Given the description of an element on the screen output the (x, y) to click on. 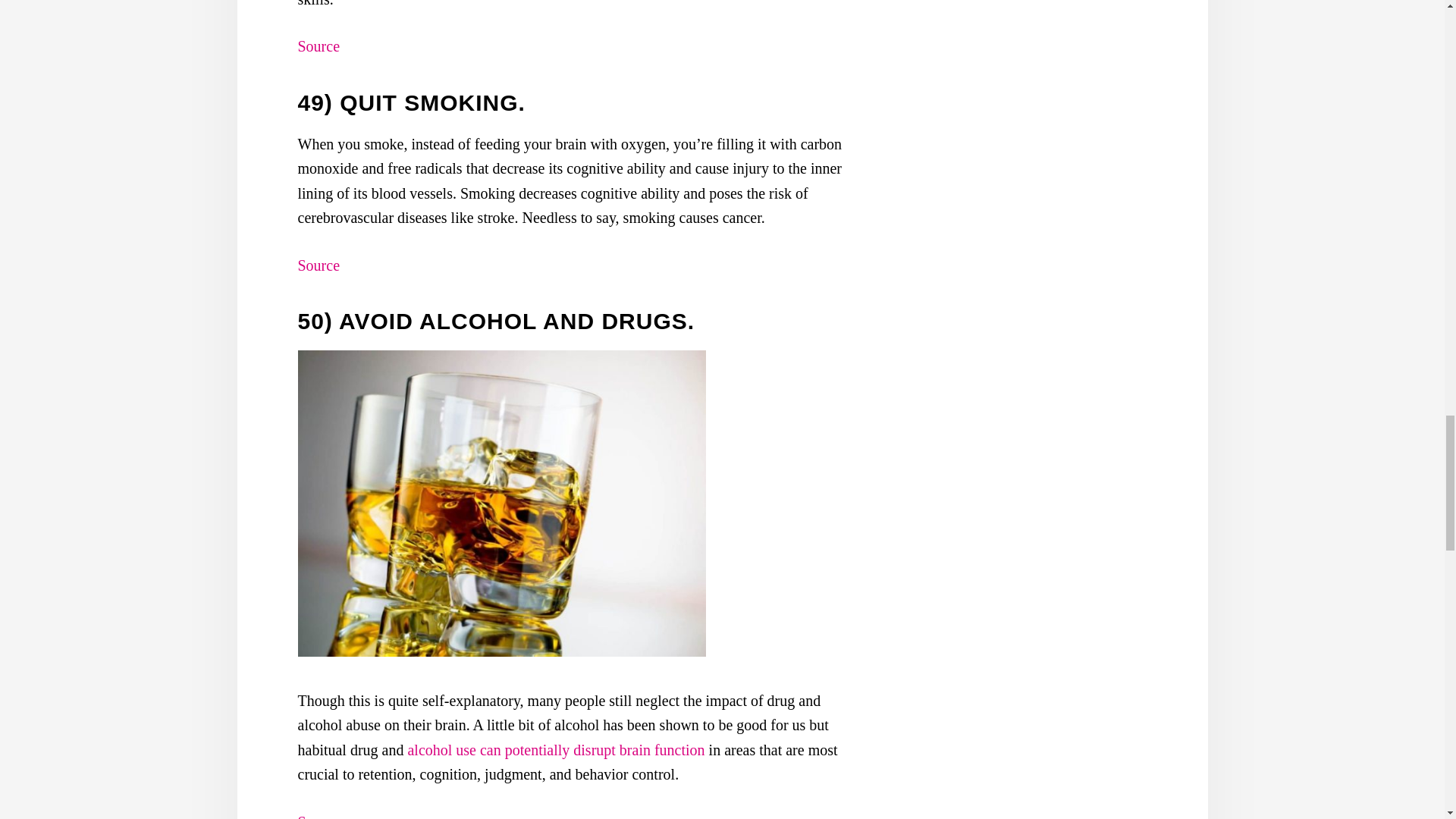
Source (318, 45)
How Does Alcohol Affect The Brain? (557, 750)
alcohol use can potentially disrupt brain function (557, 750)
Source (318, 265)
